Given the description of an element on the screen output the (x, y) to click on. 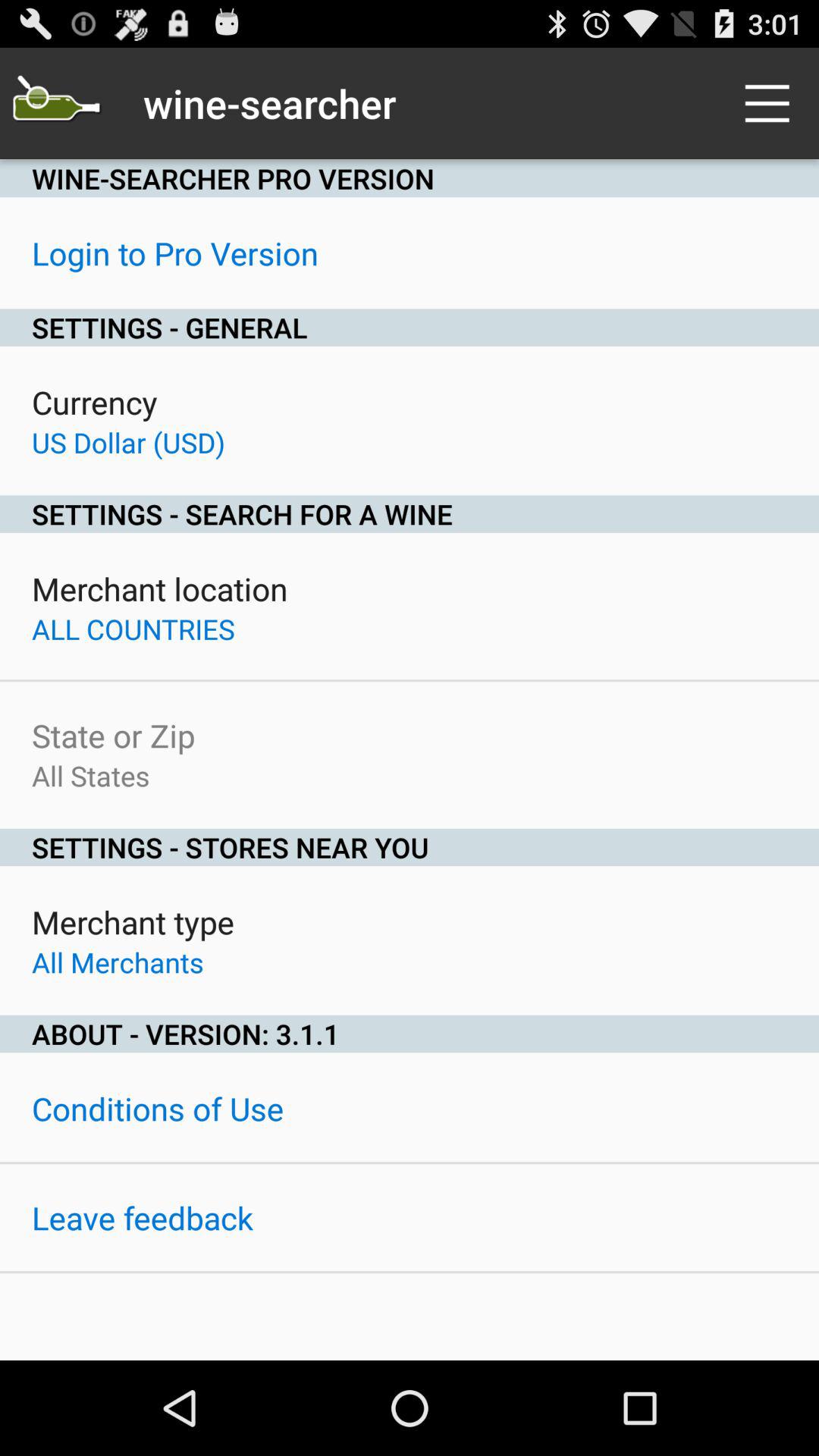
go to home (55, 103)
